Given the description of an element on the screen output the (x, y) to click on. 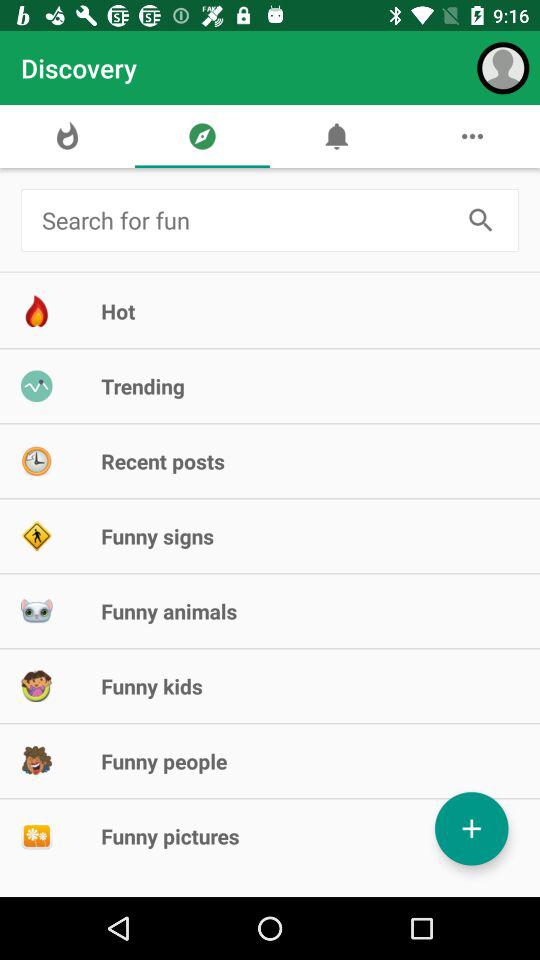
search (480, 220)
